Given the description of an element on the screen output the (x, y) to click on. 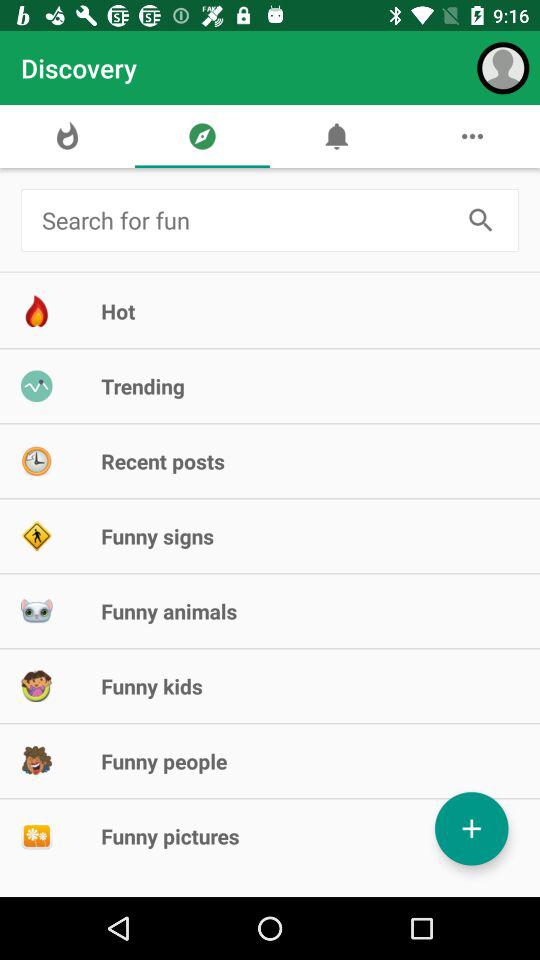
search (480, 220)
